Given the description of an element on the screen output the (x, y) to click on. 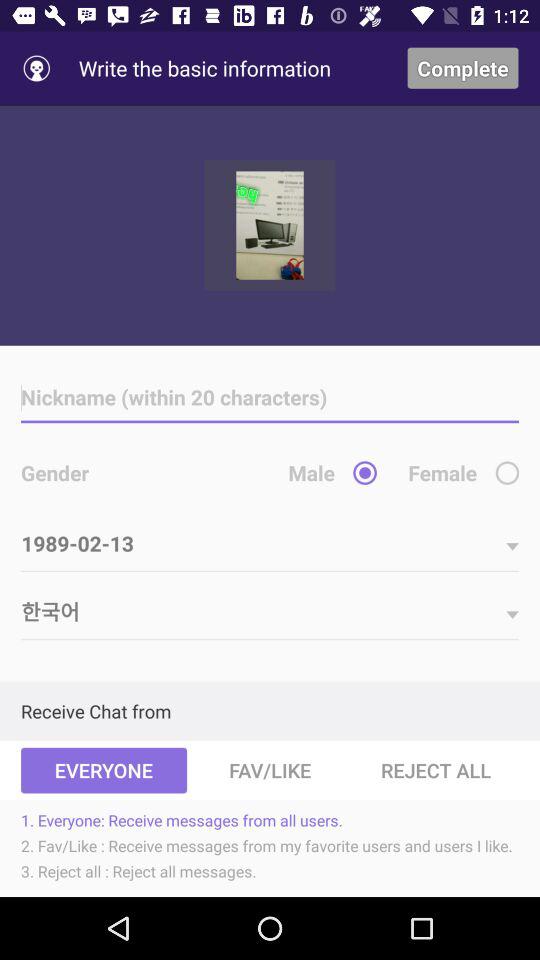
choose female gender (507, 472)
